Given the description of an element on the screen output the (x, y) to click on. 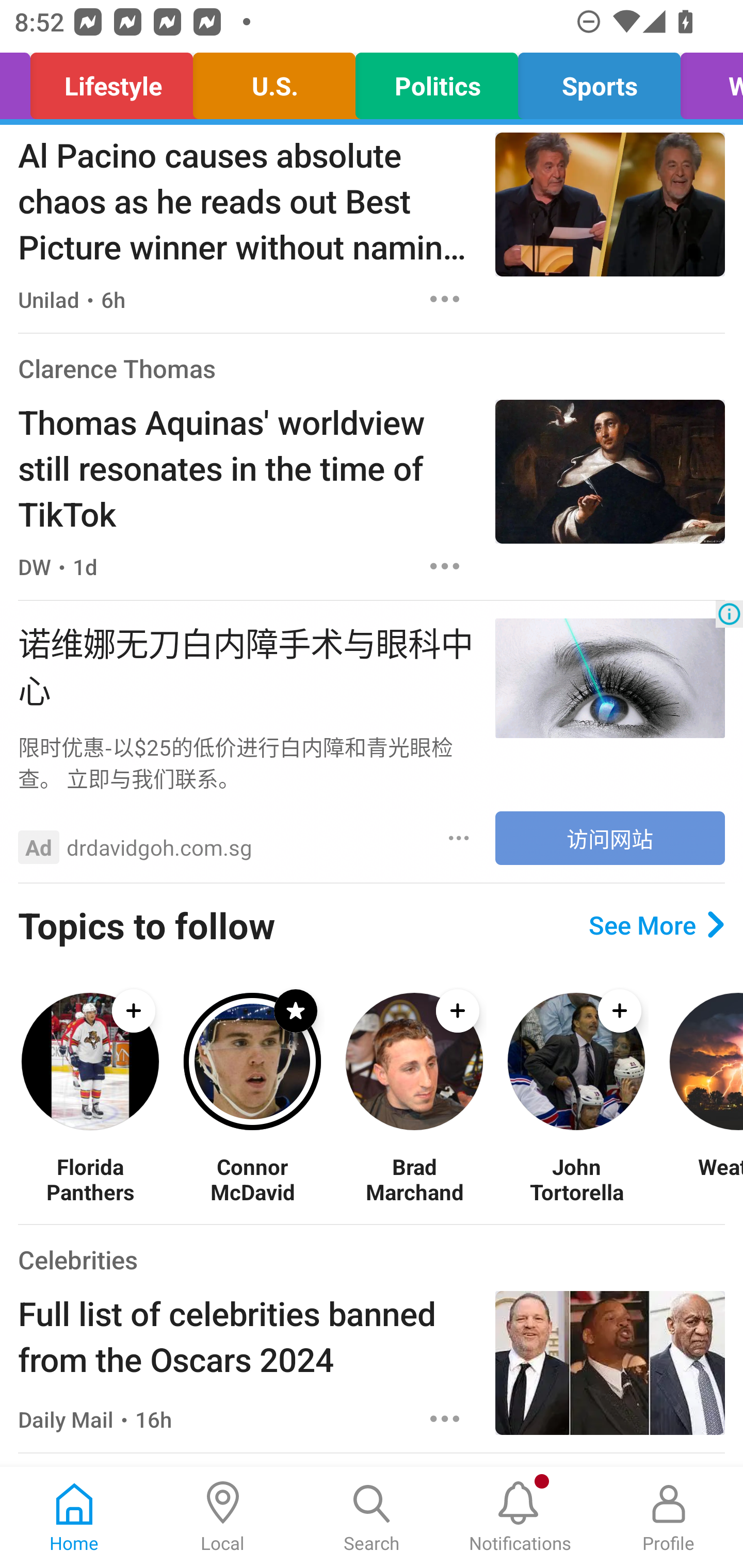
Lifestyle (111, 81)
U.S. (274, 81)
Politics (436, 81)
Sports (599, 81)
Options (444, 299)
Clarence Thomas (116, 368)
Options (444, 566)
Ad Choices Icon (729, 613)
诺维娜无刀白内障手术与眼科中心 (247, 664)
限时优惠-以$25的低价进行白内障和青光眼检查。 立即与我们联系。 (247, 761)
访问网站 (610, 837)
Options (459, 838)
drdavidgoh.com.sg (159, 847)
See More (656, 924)
Florida Panthers (89, 1178)
Connor McDavid (251, 1178)
Brad Marchand (413, 1178)
John Tortorella (575, 1178)
Celebrities (77, 1258)
Options (444, 1418)
Local (222, 1517)
Search (371, 1517)
Notifications, New notification Notifications (519, 1517)
Profile (668, 1517)
